Given the description of an element on the screen output the (x, y) to click on. 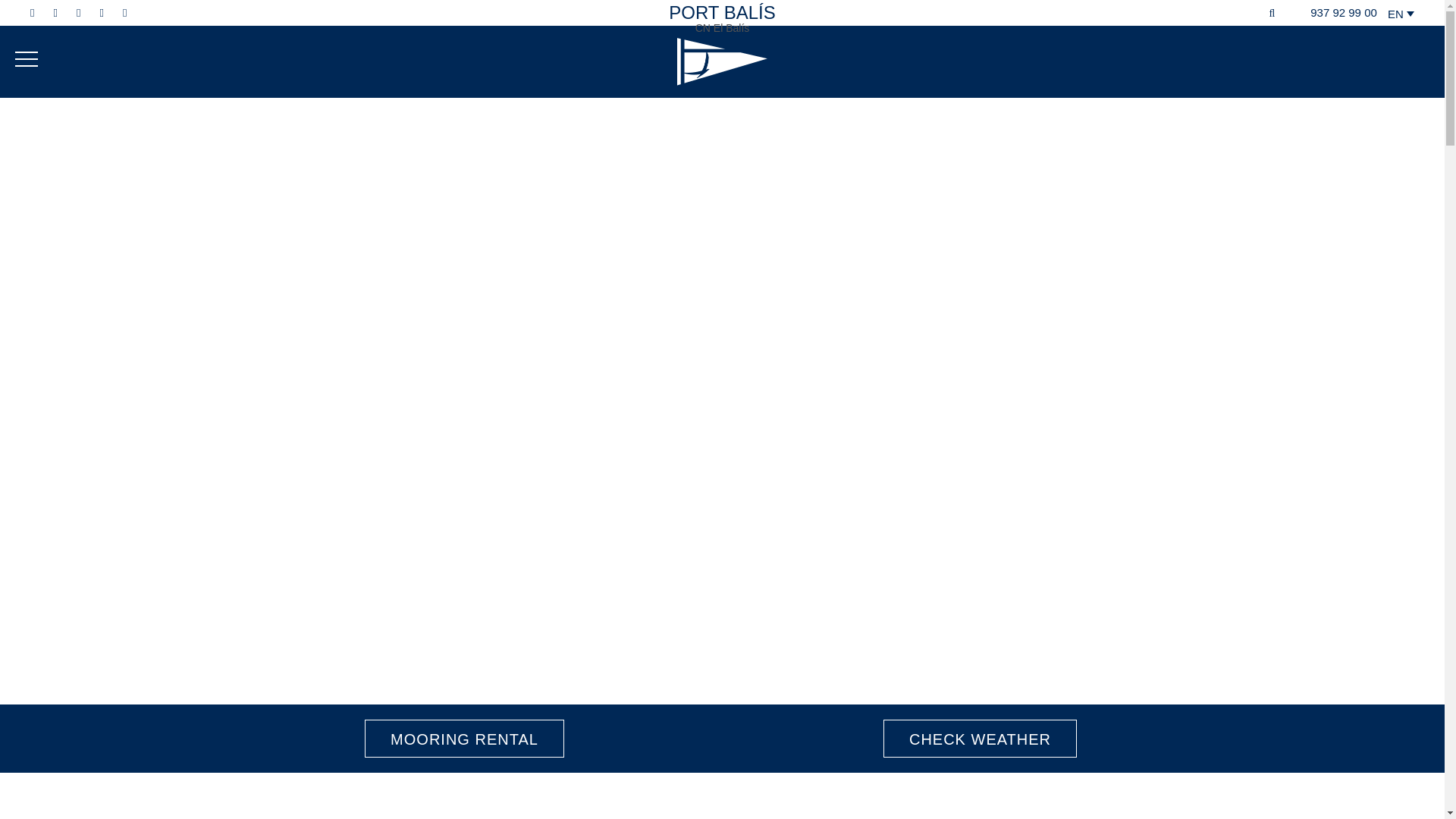
937 92 99 00 (1337, 11)
MOORING RENTAL (464, 738)
CHECK WEATHER (980, 738)
logo-while (722, 61)
EN (1404, 12)
